Given the description of an element on the screen output the (x, y) to click on. 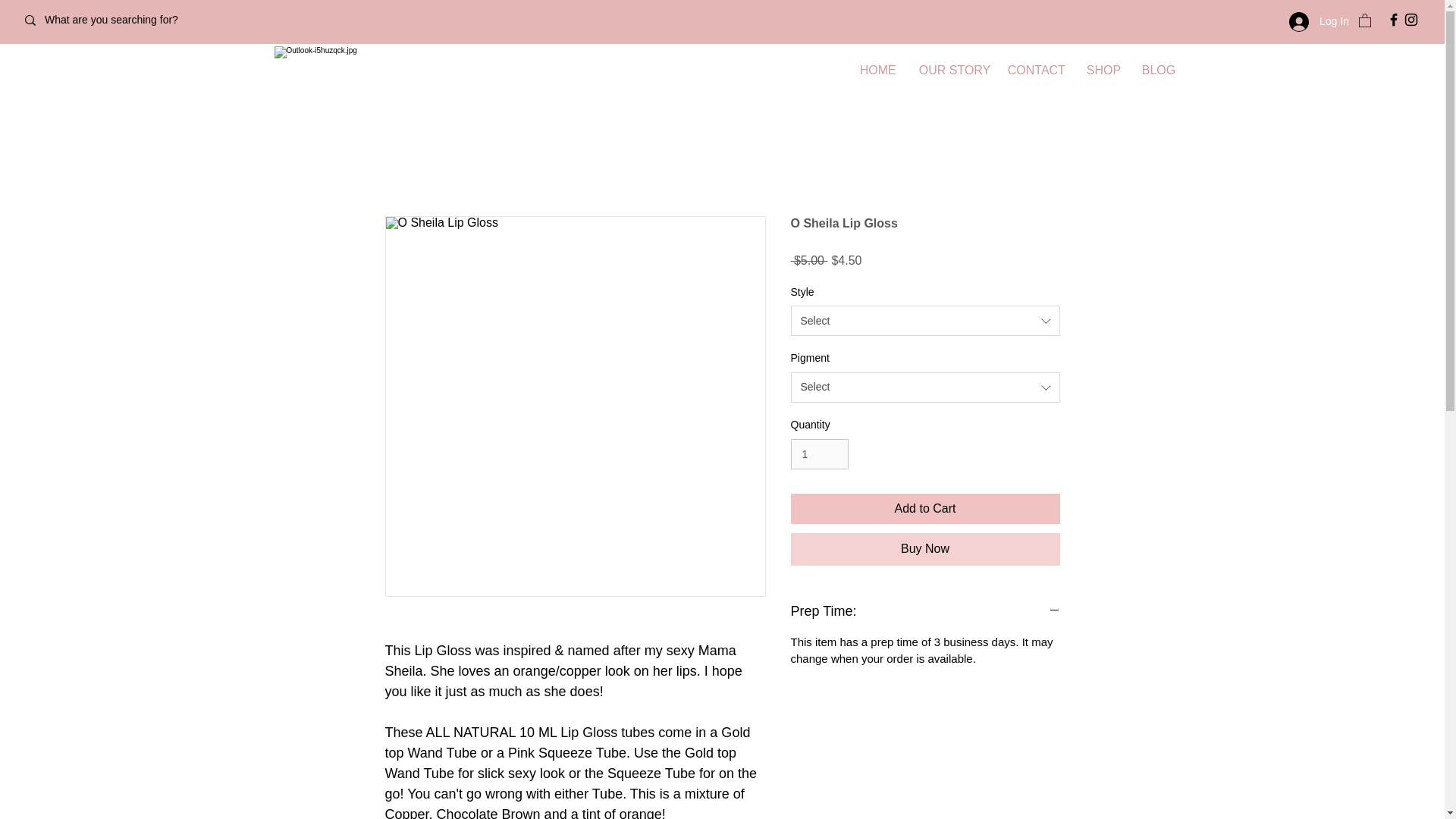
HOME (877, 70)
Prep Time: (924, 610)
OUR STORY (951, 70)
Add to Cart (924, 508)
1 (818, 454)
Log In (1318, 21)
BLOG (1158, 70)
Select (924, 387)
Select (924, 320)
Buy Now (924, 549)
